Given the description of an element on the screen output the (x, y) to click on. 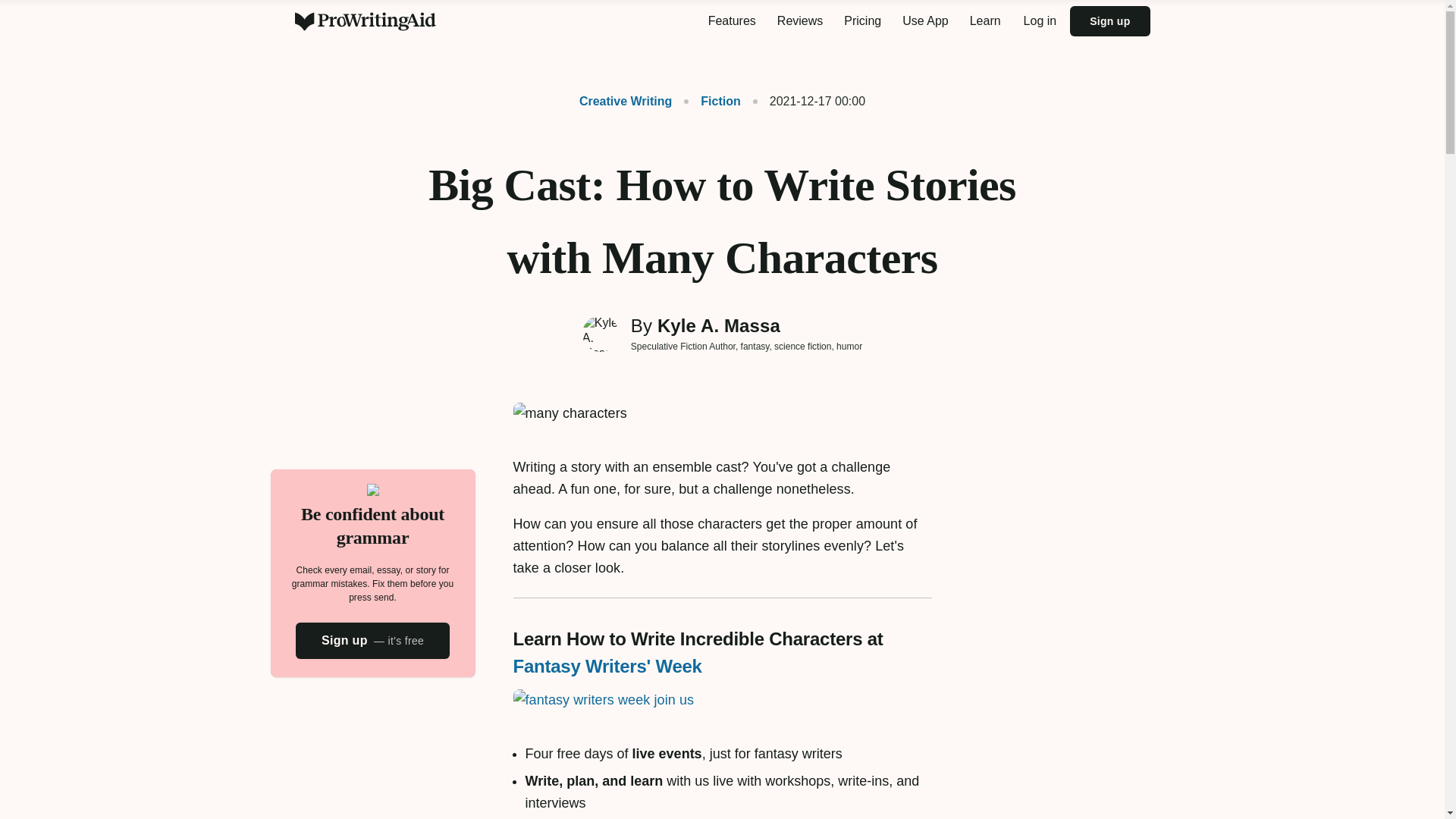
Use App (924, 21)
Pricing (861, 21)
Features (731, 21)
Learn (985, 21)
Creative Writing (625, 101)
Fiction (711, 101)
Sign up (1110, 20)
Log in (1039, 21)
Reviews (799, 21)
Fantasy Writers' Week (606, 666)
